Given the description of an element on the screen output the (x, y) to click on. 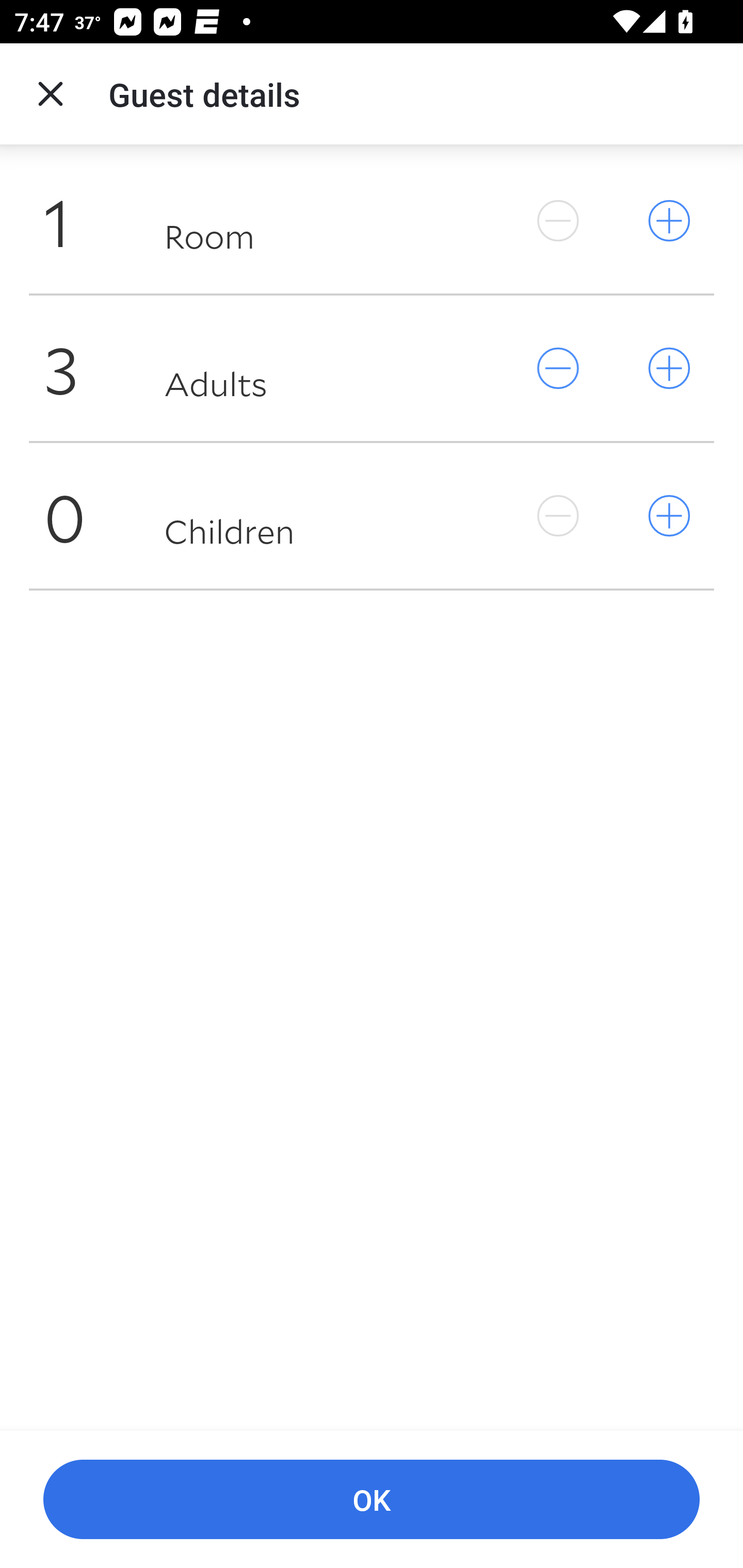
OK (371, 1499)
